Given the description of an element on the screen output the (x, y) to click on. 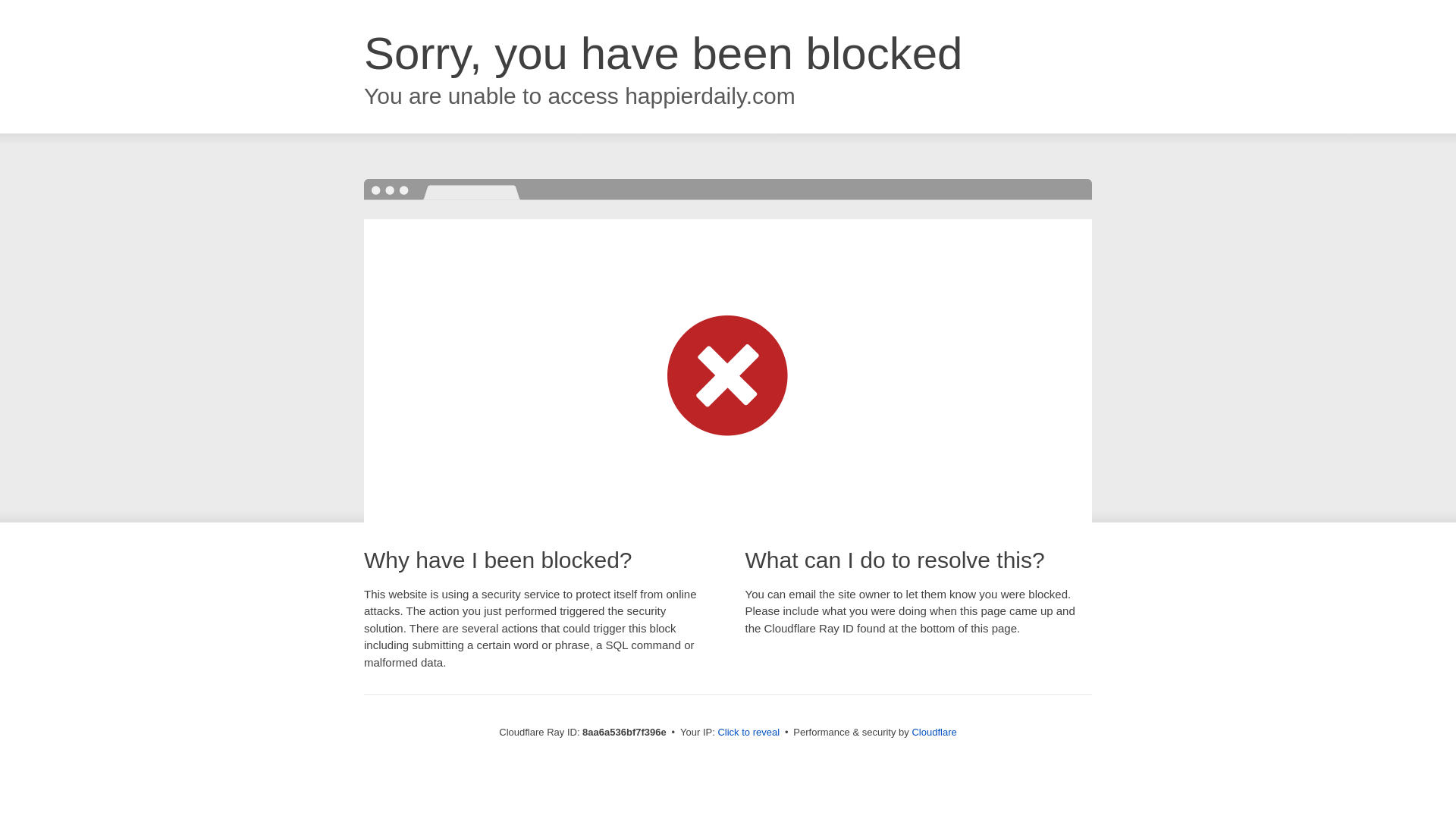
Click to reveal (747, 732)
Cloudflare (933, 731)
